Given the description of an element on the screen output the (x, y) to click on. 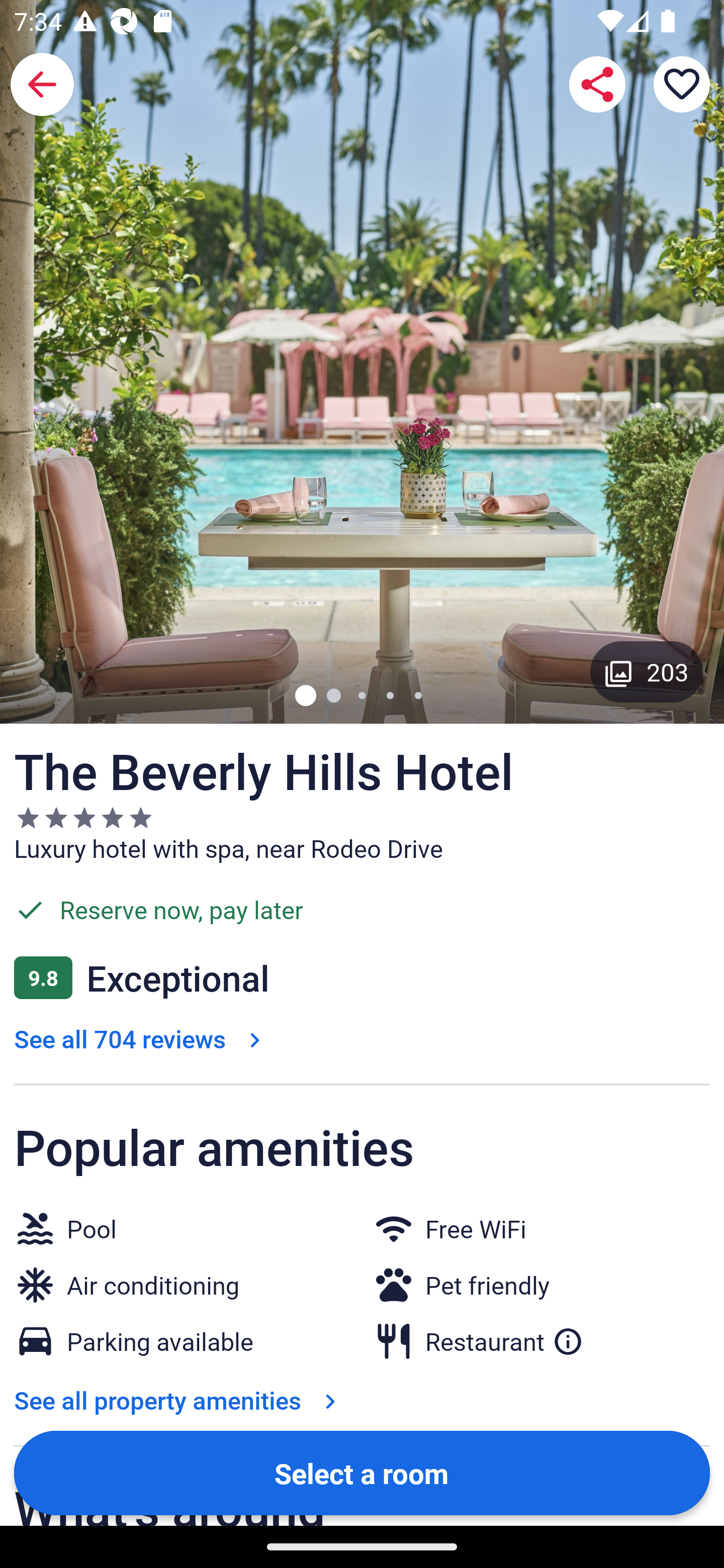
Back (42, 84)
Save property to a trip (681, 84)
Share The Beverly Hills Hotel (597, 84)
Gallery button with 203 images (646, 671)
See all 704 reviews See all 704 reviews Link (140, 1038)
Restaurant (504, 1340)
See all property amenities (178, 1399)
Select a room Button Select a room (361, 1472)
